Given the description of an element on the screen output the (x, y) to click on. 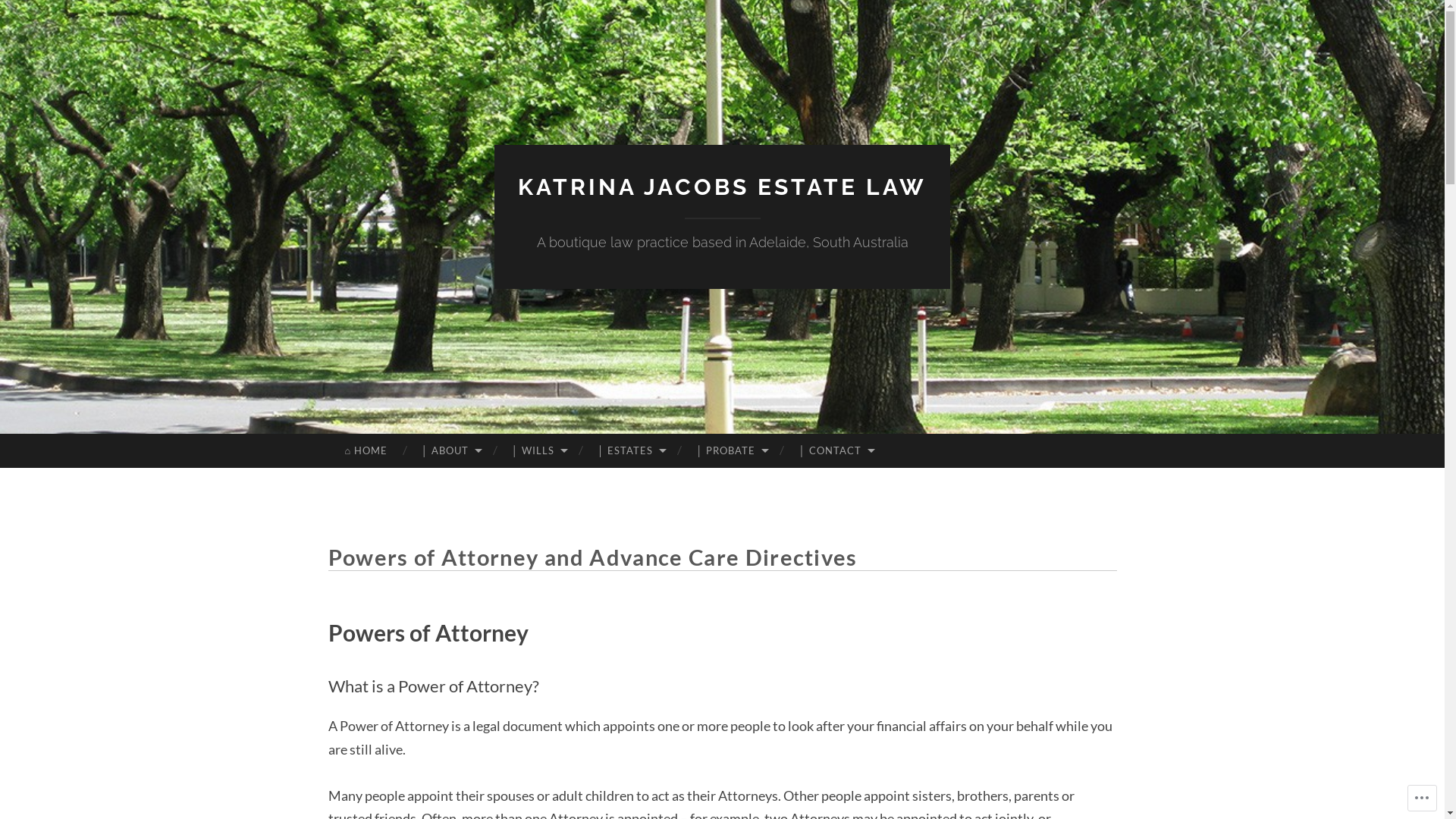
KATRINA JACOBS ESTATE LAW Element type: text (721, 186)
